Given the description of an element on the screen output the (x, y) to click on. 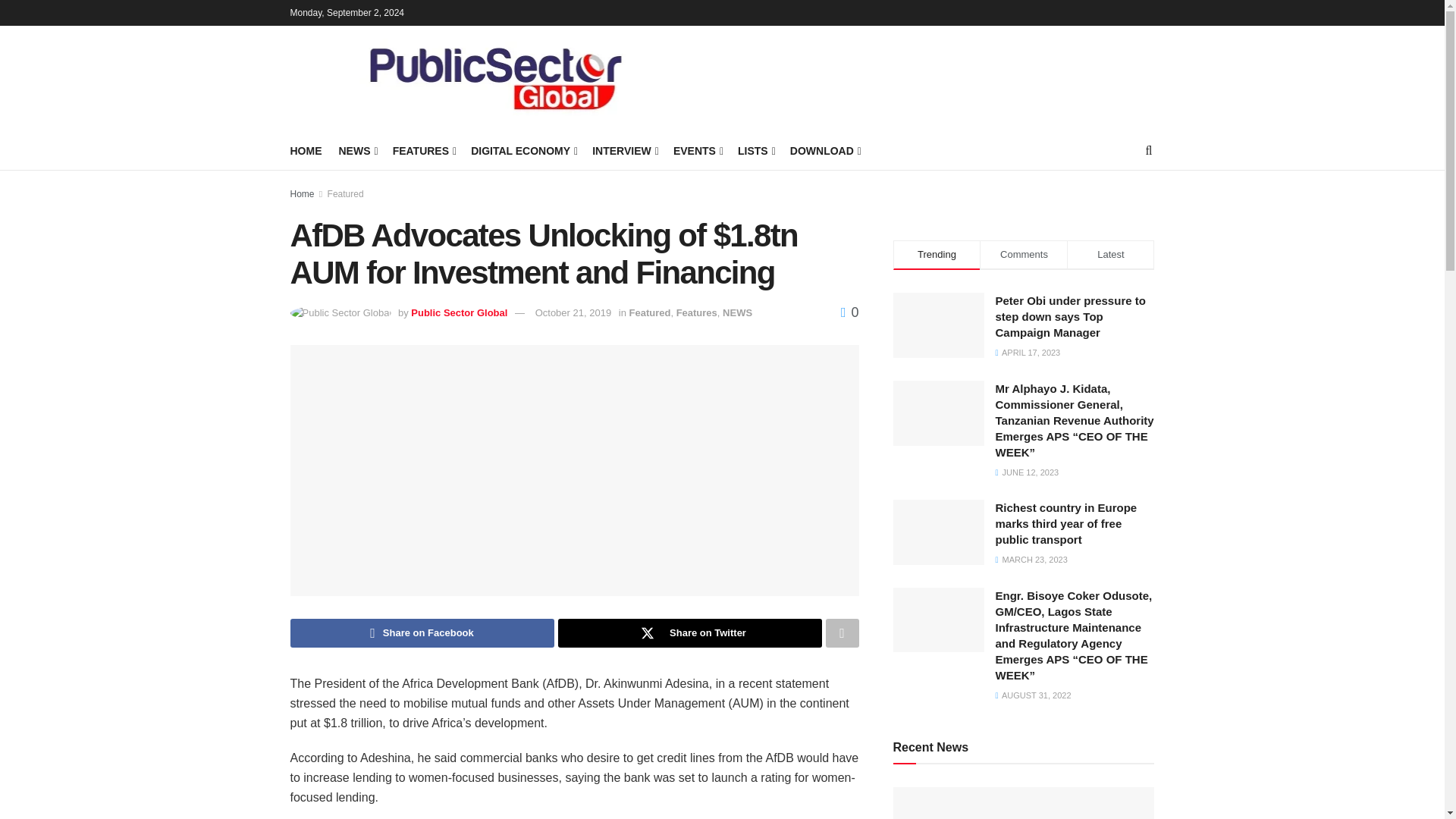
NEWS (356, 150)
HOME (305, 150)
DIGITAL ECONOMY (522, 150)
FEATURES (423, 150)
